Given the description of an element on the screen output the (x, y) to click on. 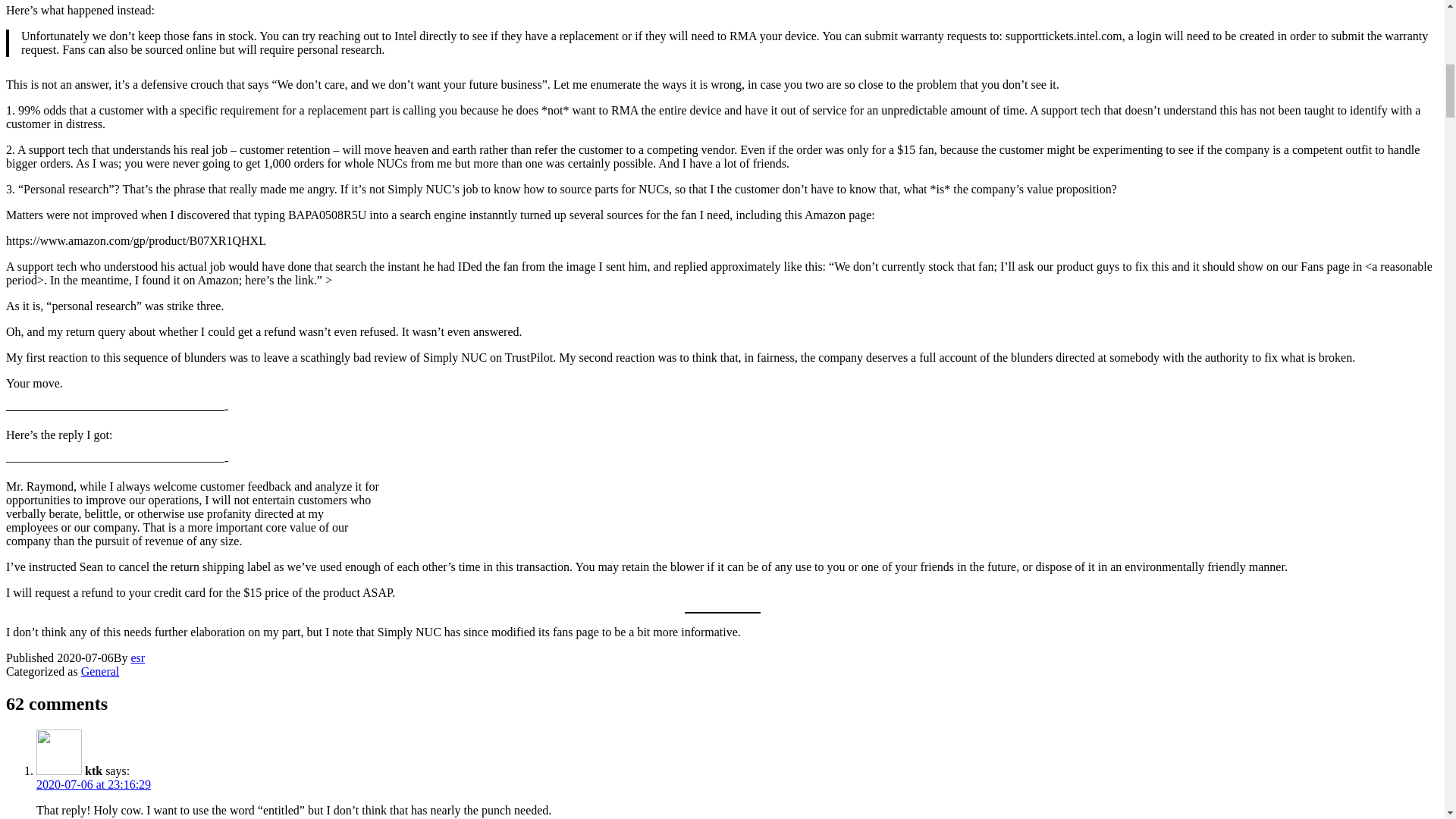
esr (137, 657)
2020-07-06 at 23:16:29 (93, 784)
General (100, 671)
